Given the description of an element on the screen output the (x, y) to click on. 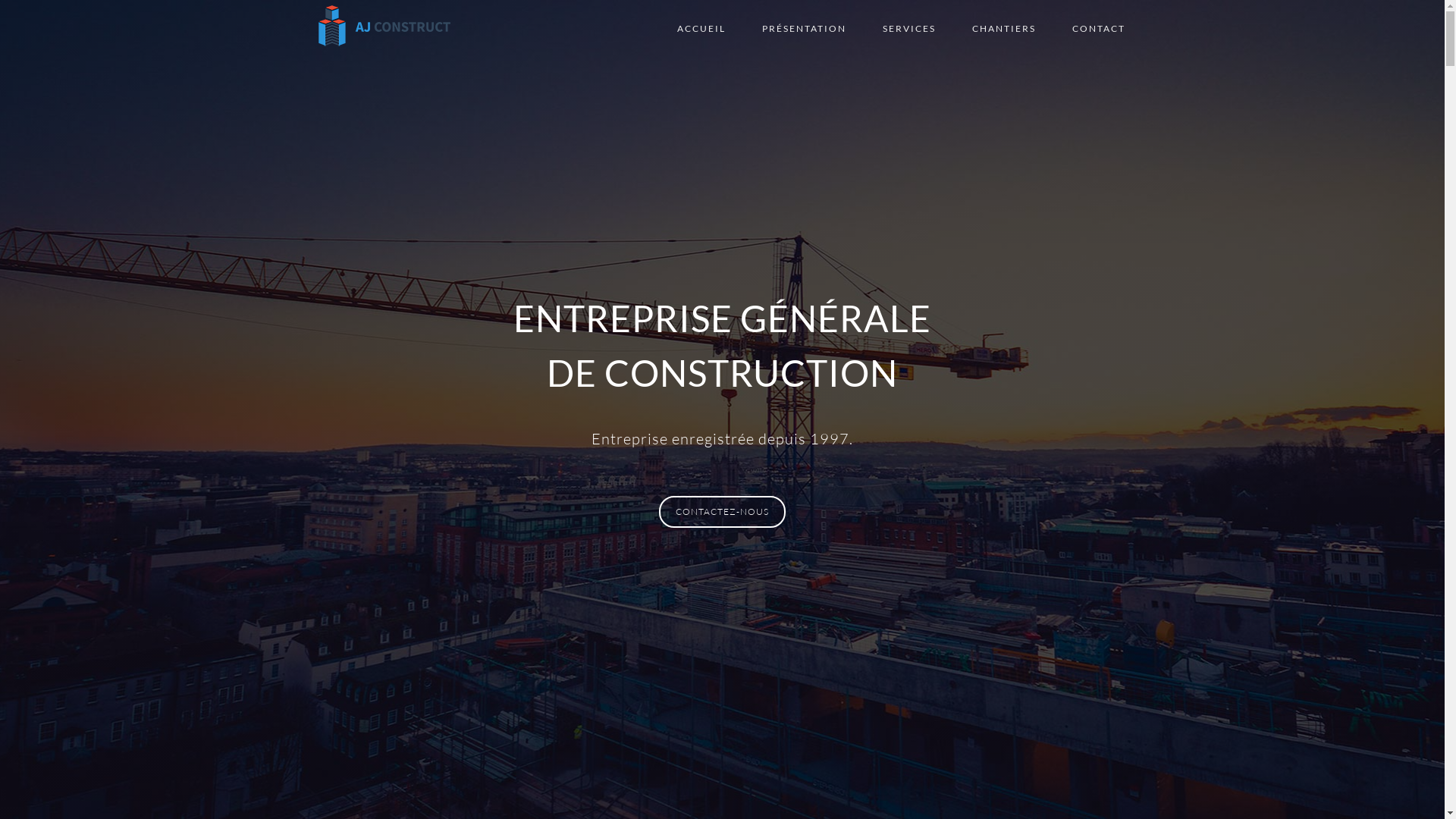
CONTACT Element type: text (1098, 28)
SERVICES Element type: text (908, 28)
ACCUEIL Element type: text (700, 28)
CHANTIERS Element type: text (1003, 28)
CONTACTEZ-NOUS Element type: text (721, 511)
